Given the description of an element on the screen output the (x, y) to click on. 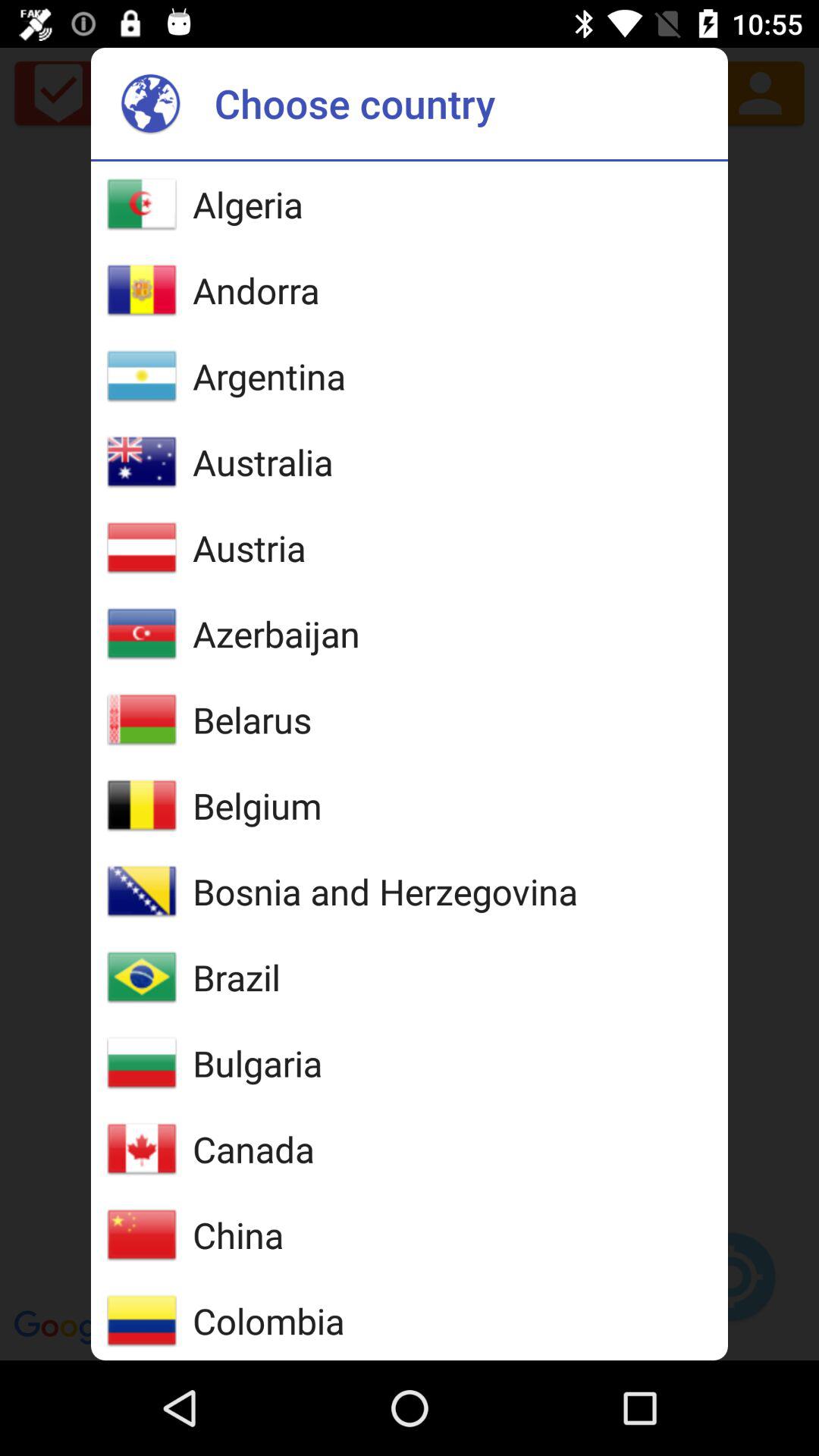
select the item above the canada icon (257, 1063)
